Given the description of an element on the screen output the (x, y) to click on. 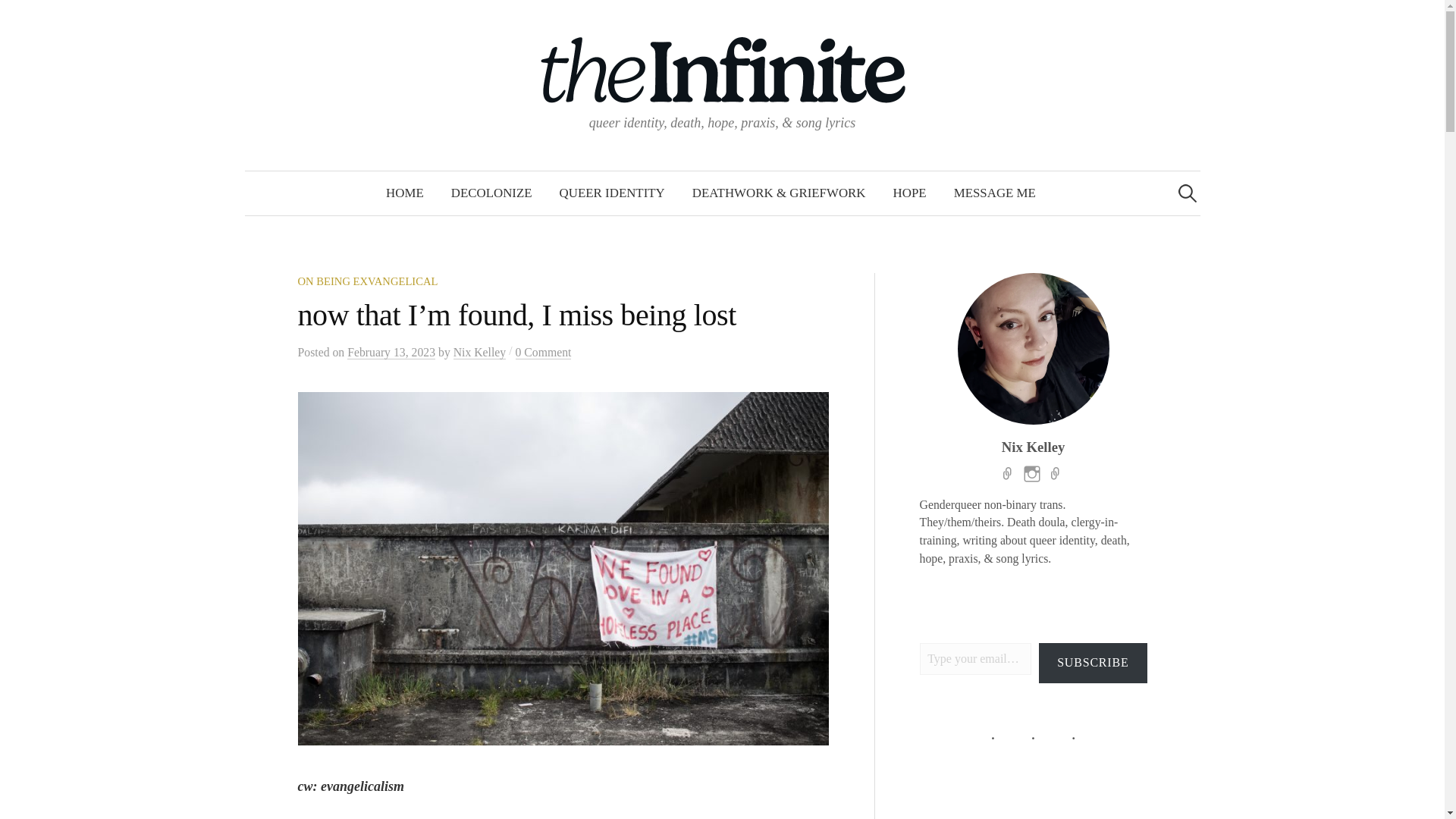
MESSAGE ME (994, 193)
0 Comment (543, 352)
Search (18, 18)
QUEER IDENTITY (612, 193)
Nix Kelley (479, 352)
ON BEING EXVANGELICAL (367, 281)
HOME (405, 193)
Please fill in this field. (976, 658)
SUBSCRIBE (1093, 662)
HOPE (909, 193)
DECOLONIZE (492, 193)
February 13, 2023 (391, 352)
View all posts by Nix Kelley (479, 352)
